Given the description of an element on the screen output the (x, y) to click on. 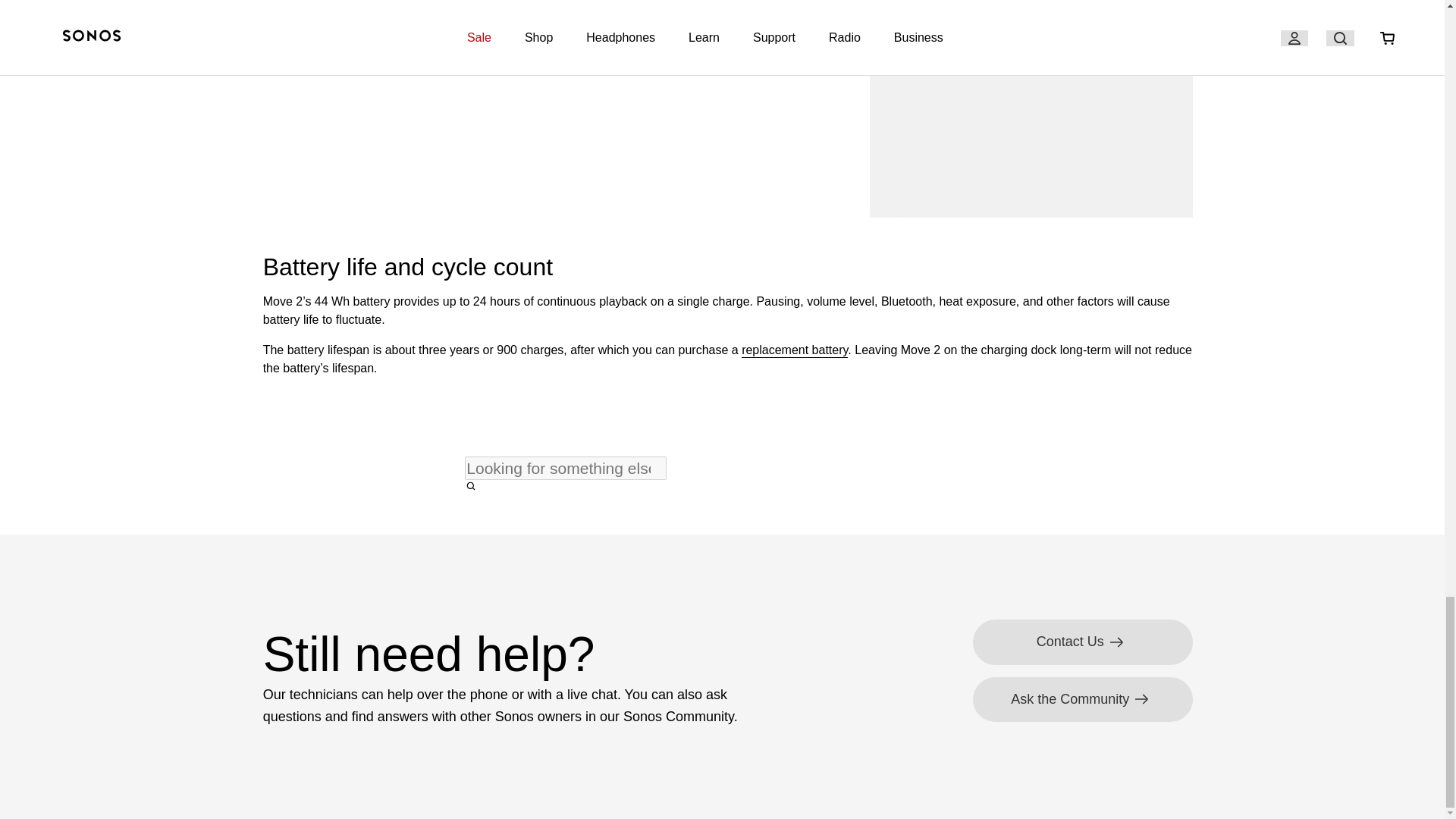
replacement battery (794, 350)
Ask the Community (1082, 699)
Contact Us (1082, 641)
